Given the description of an element on the screen output the (x, y) to click on. 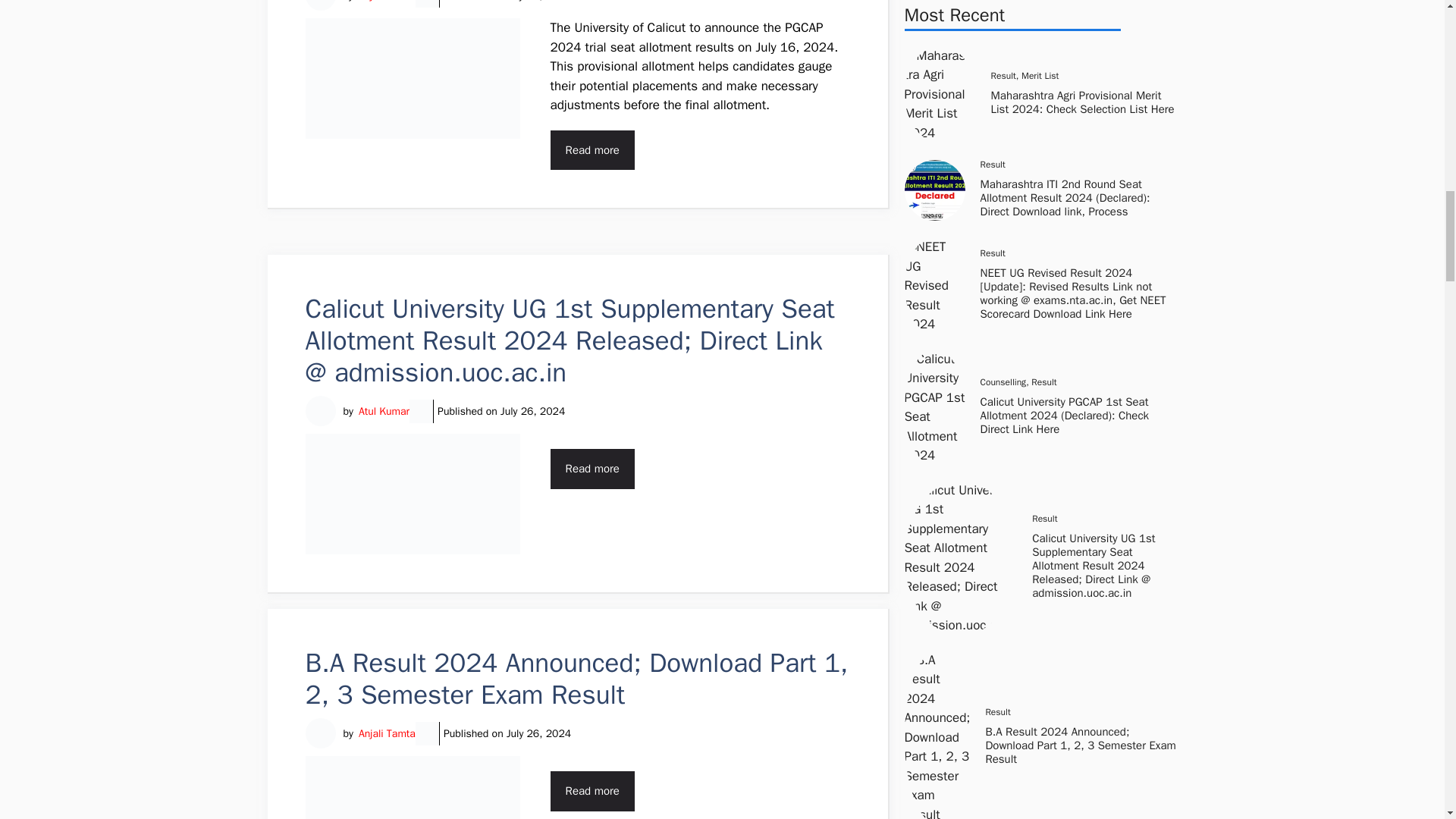
Atul Kumar (383, 411)
Anjali Tamta (386, 2)
Read more (592, 150)
Read more (592, 791)
Read more (592, 468)
Anjali Tamta (386, 733)
